Given the description of an element on the screen output the (x, y) to click on. 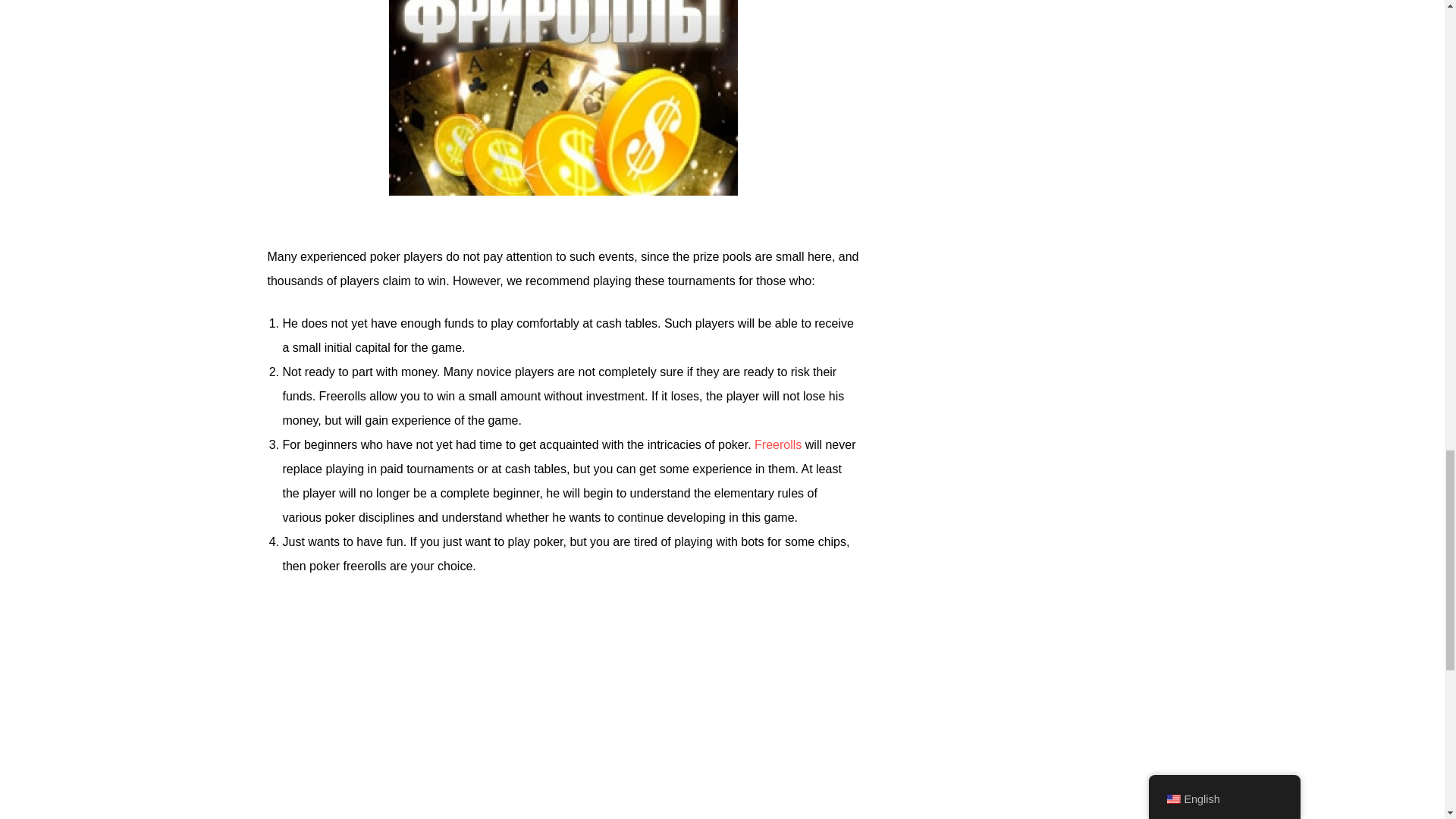
Freerolls how to play? (562, 708)
